Given the description of an element on the screen output the (x, y) to click on. 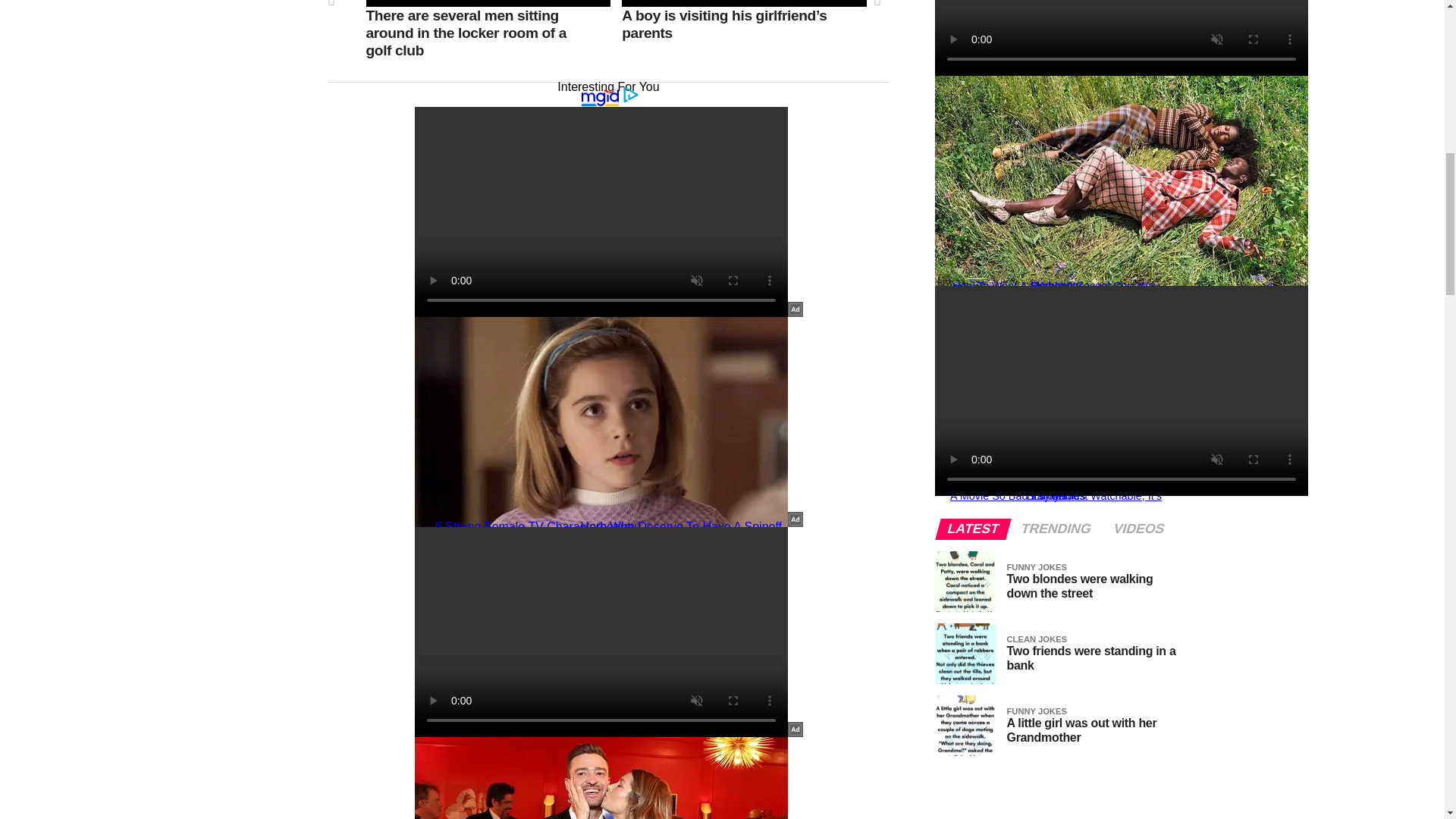
TRENDING (1055, 529)
VIDEOS (1138, 529)
LATEST (973, 529)
